Given the description of an element on the screen output the (x, y) to click on. 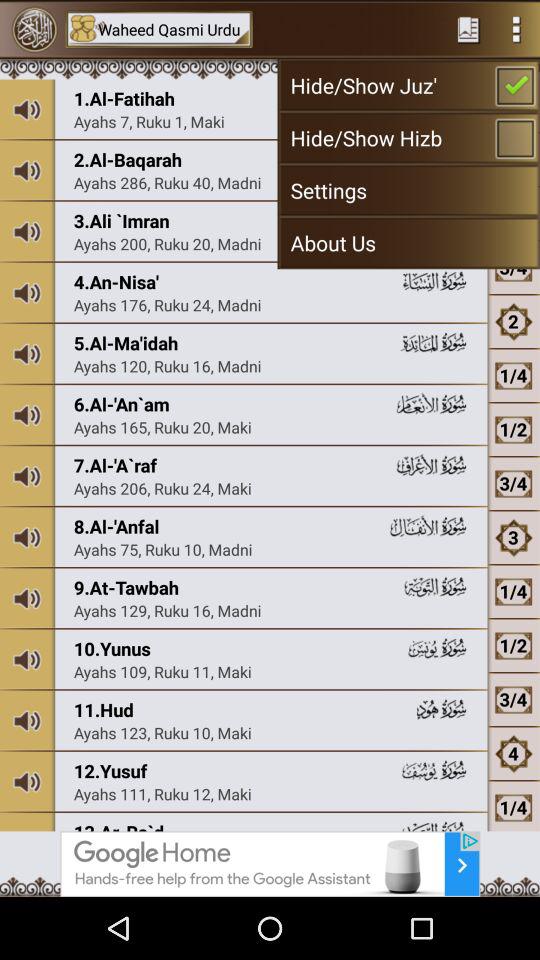
find out more (270, 864)
